Given the description of an element on the screen output the (x, y) to click on. 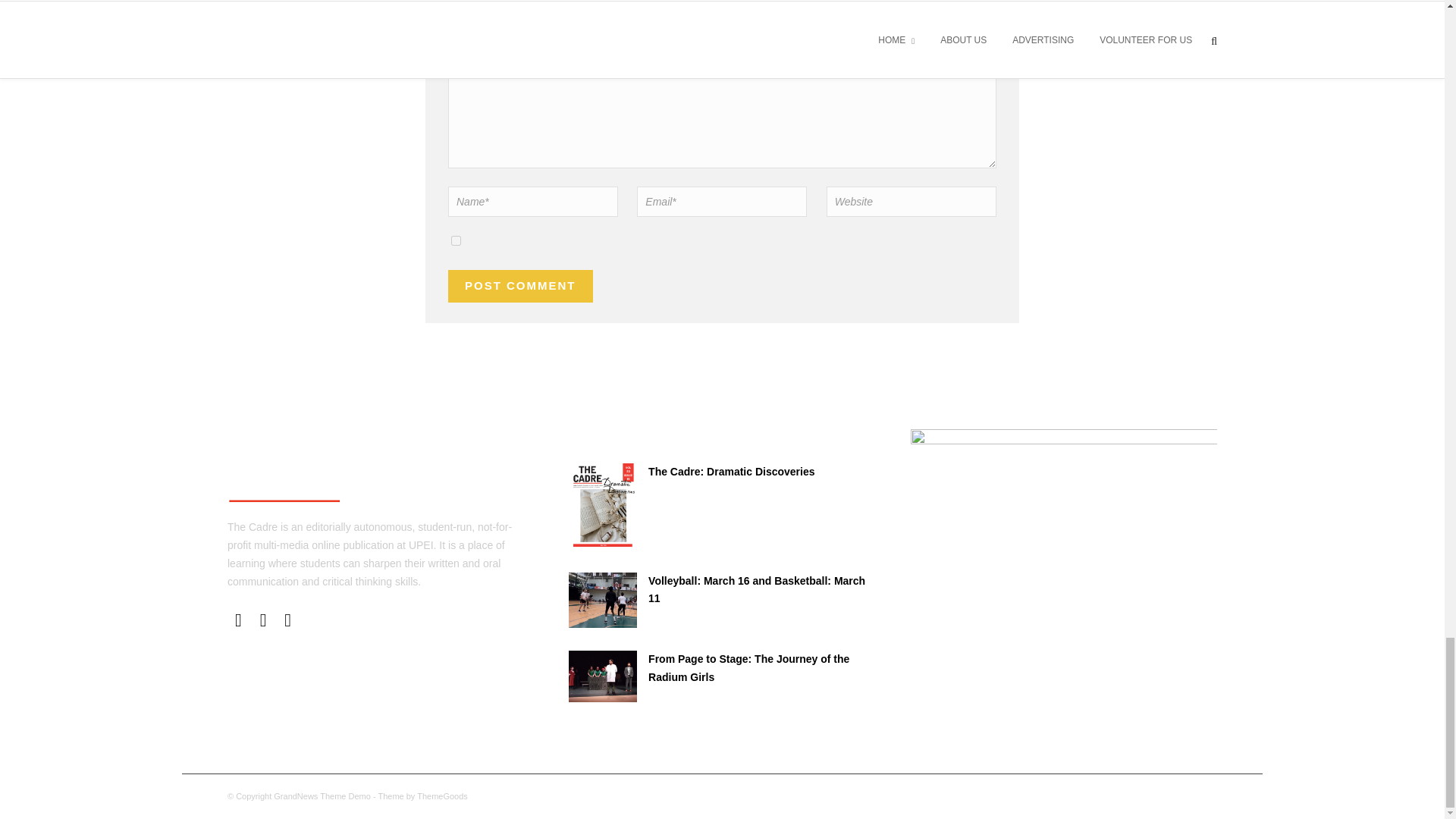
yes (456, 240)
Post Comment (520, 286)
Facebook (237, 620)
Twitter (263, 620)
Post Comment (520, 286)
